Given the description of an element on the screen output the (x, y) to click on. 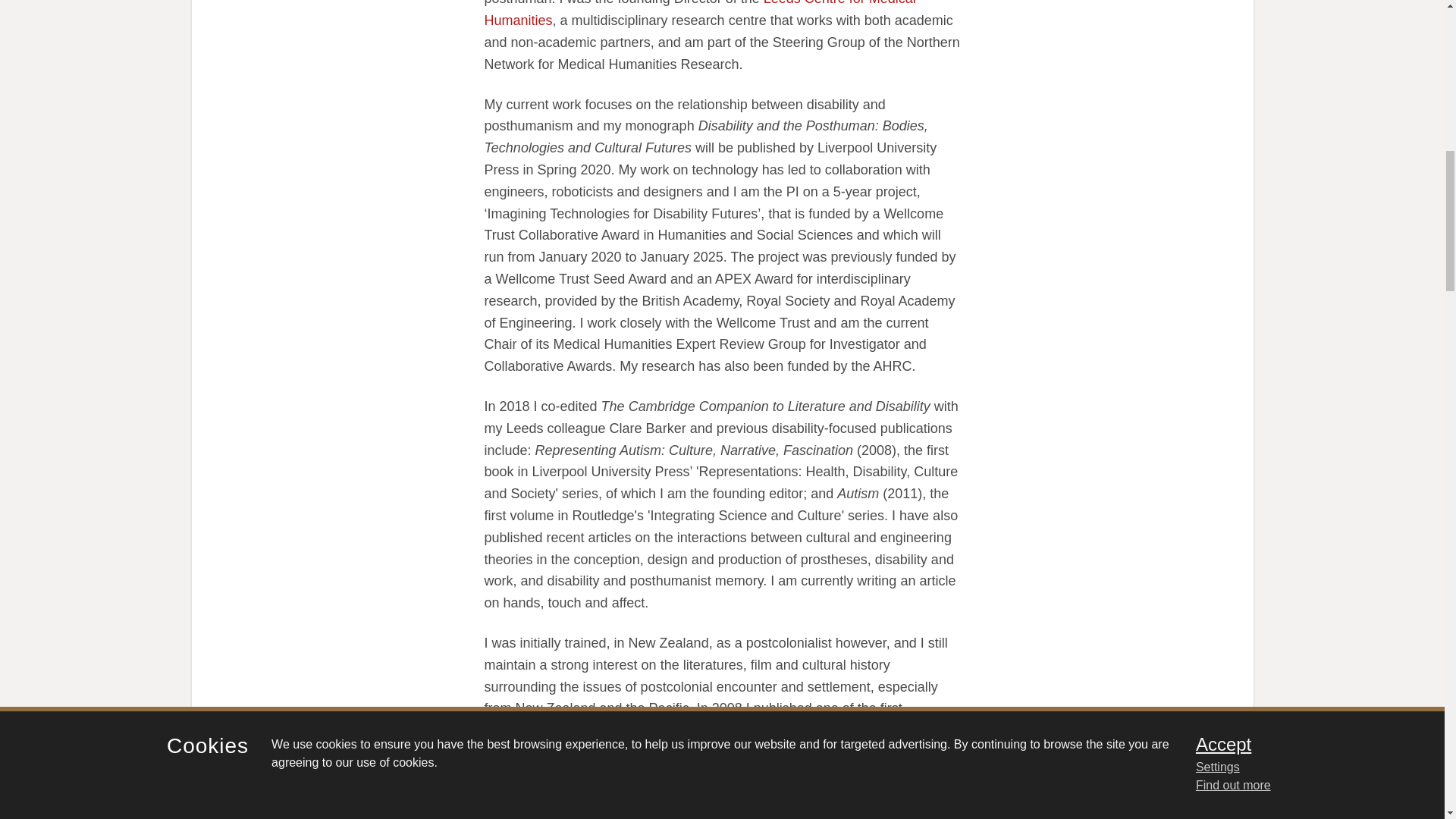
Leeds Centre for Medical Humanities (699, 13)
